Given the description of an element on the screen output the (x, y) to click on. 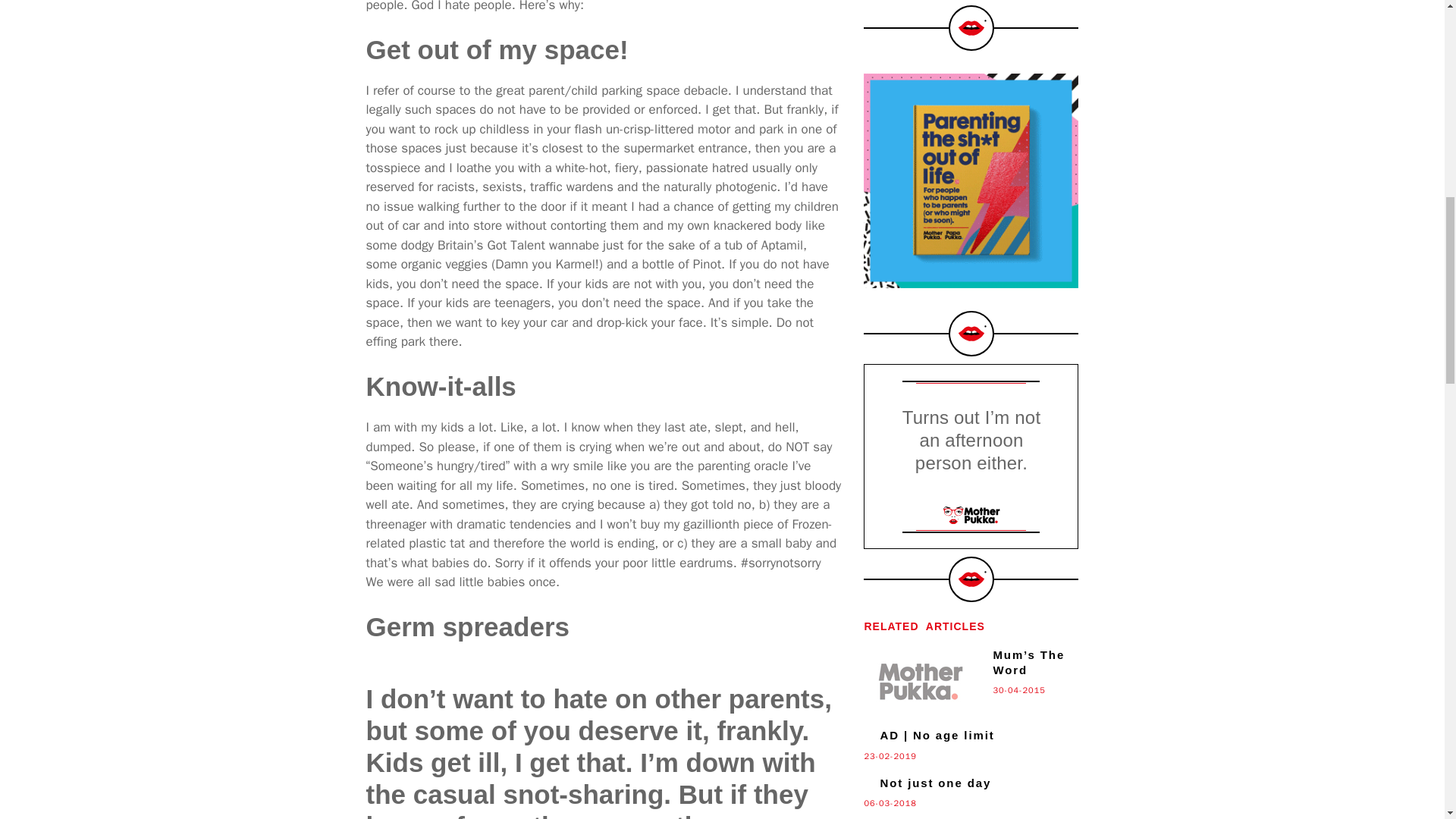
mother-pukka-logo.svg (970, 515)
quote (970, 531)
quote (970, 382)
mother-pukka-shop-2.gif (970, 180)
